Given the description of an element on the screen output the (x, y) to click on. 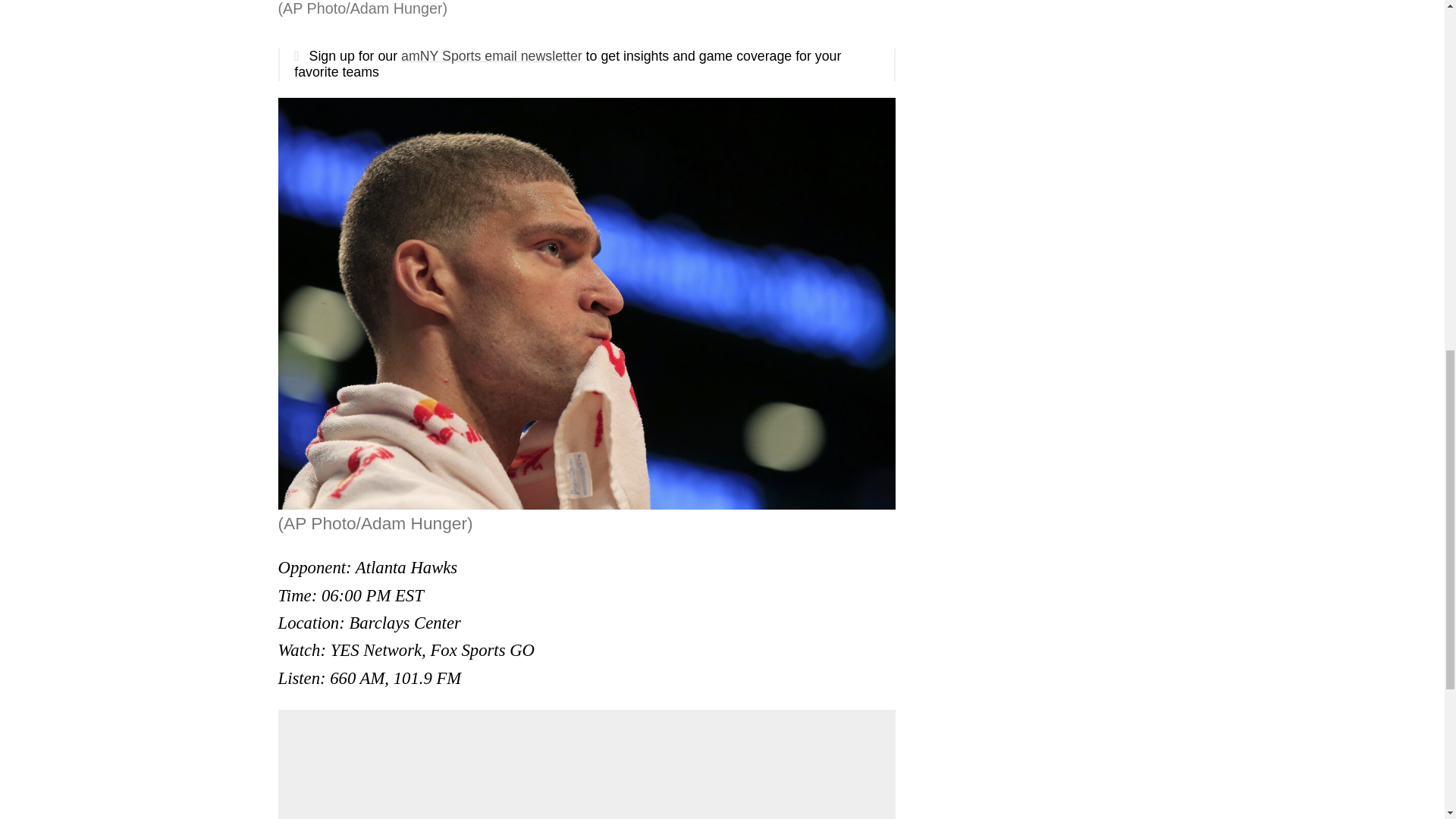
3rd party ad content (586, 771)
